Given the description of an element on the screen output the (x, y) to click on. 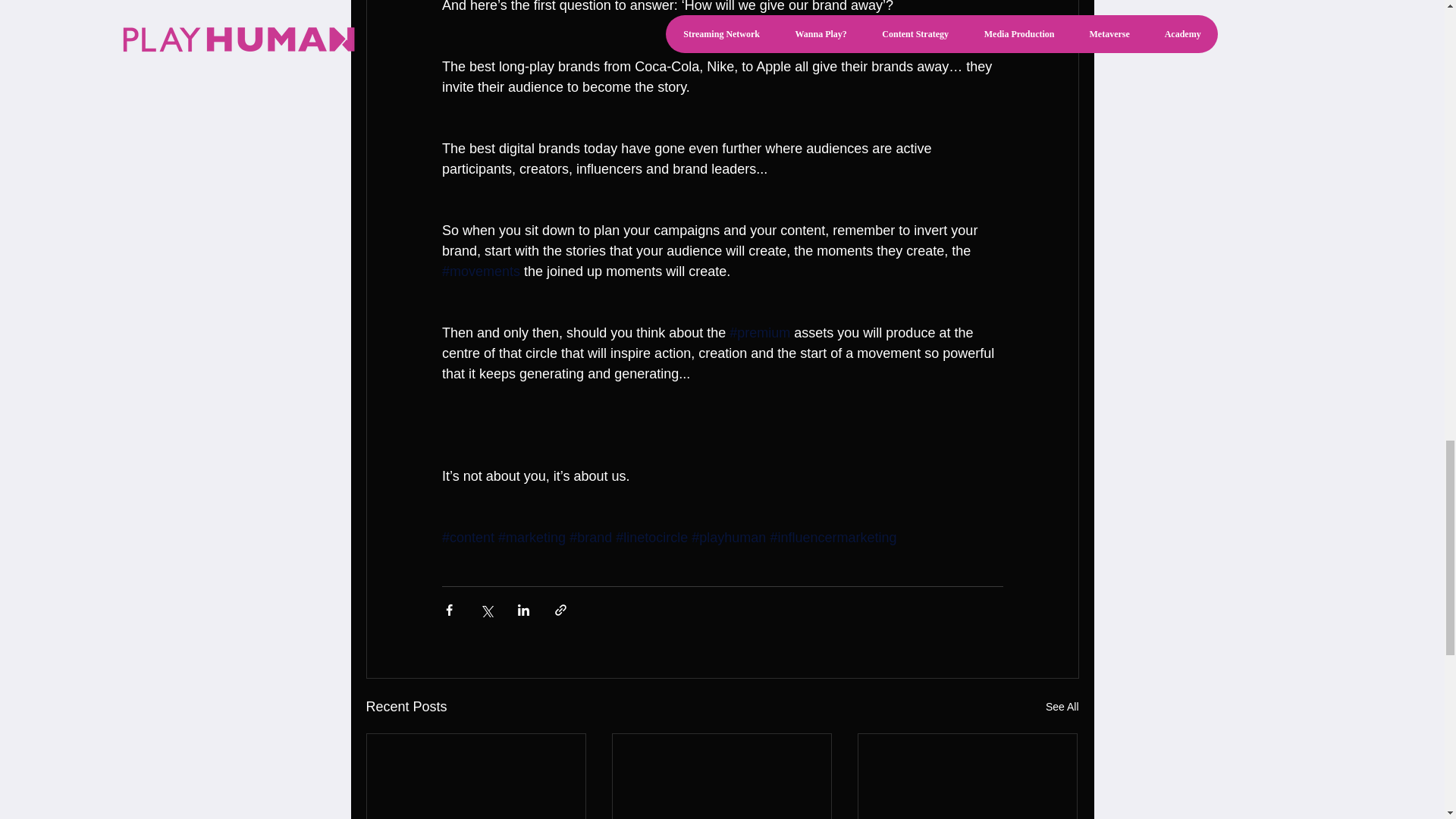
See All (1061, 707)
